Given the description of an element on the screen output the (x, y) to click on. 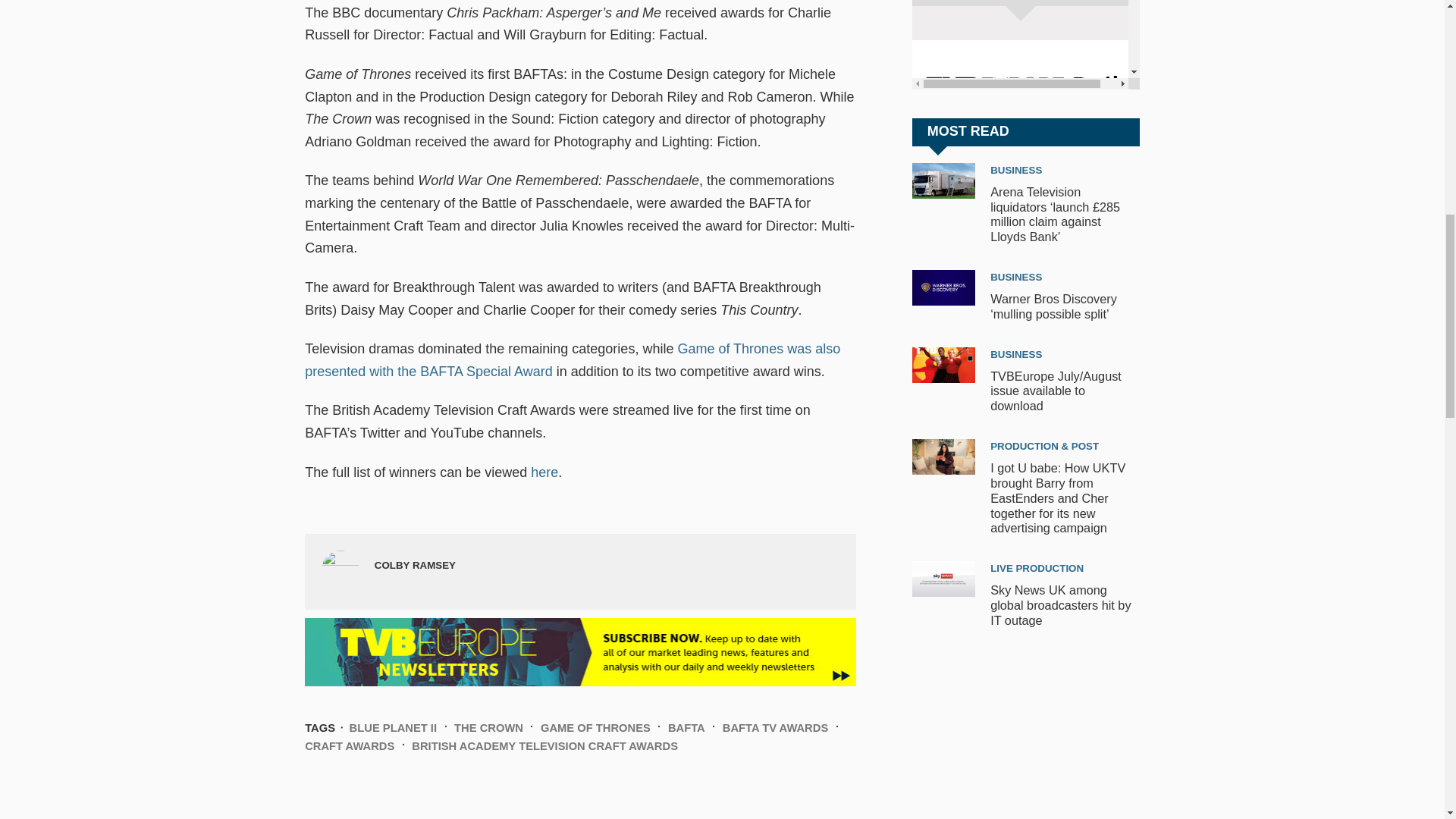
Colby Ramsey's Author Profile (414, 564)
